Given the description of an element on the screen output the (x, y) to click on. 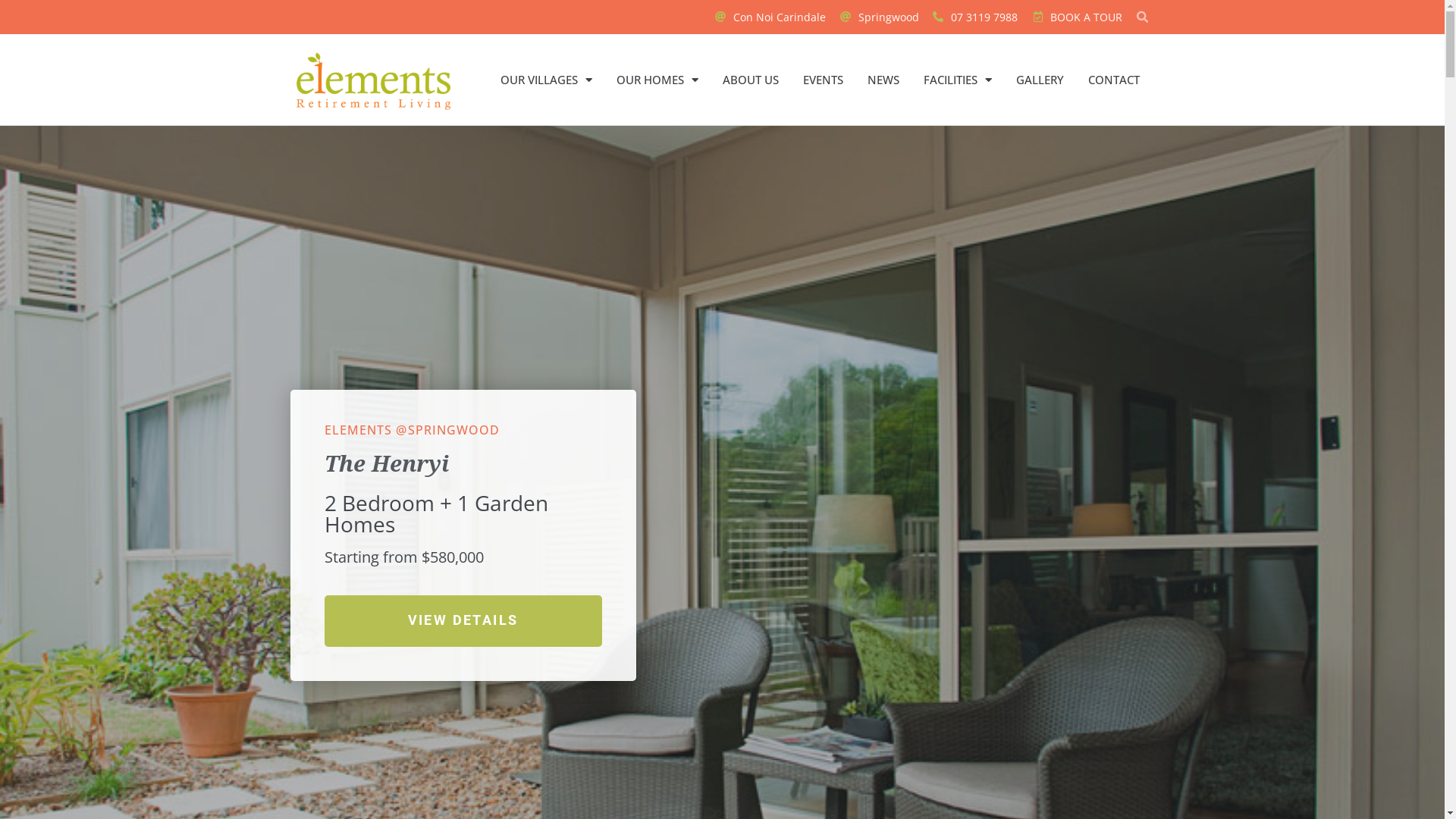
FACILITIES Element type: text (957, 79)
07 3119 7988 Element type: text (973, 17)
ABOUT US Element type: text (750, 79)
OUR HOMES Element type: text (657, 79)
OUR VILLAGES Element type: text (546, 79)
VIEW DETAILS Element type: text (463, 620)
Con Noi Carindale Element type: text (769, 17)
NEWS Element type: text (883, 79)
EVENTS Element type: text (822, 79)
CONTACT Element type: text (1113, 79)
GALLERY Element type: text (1040, 79)
BOOK A TOUR Element type: text (1075, 17)
Springwood Element type: text (878, 17)
